Given the description of an element on the screen output the (x, y) to click on. 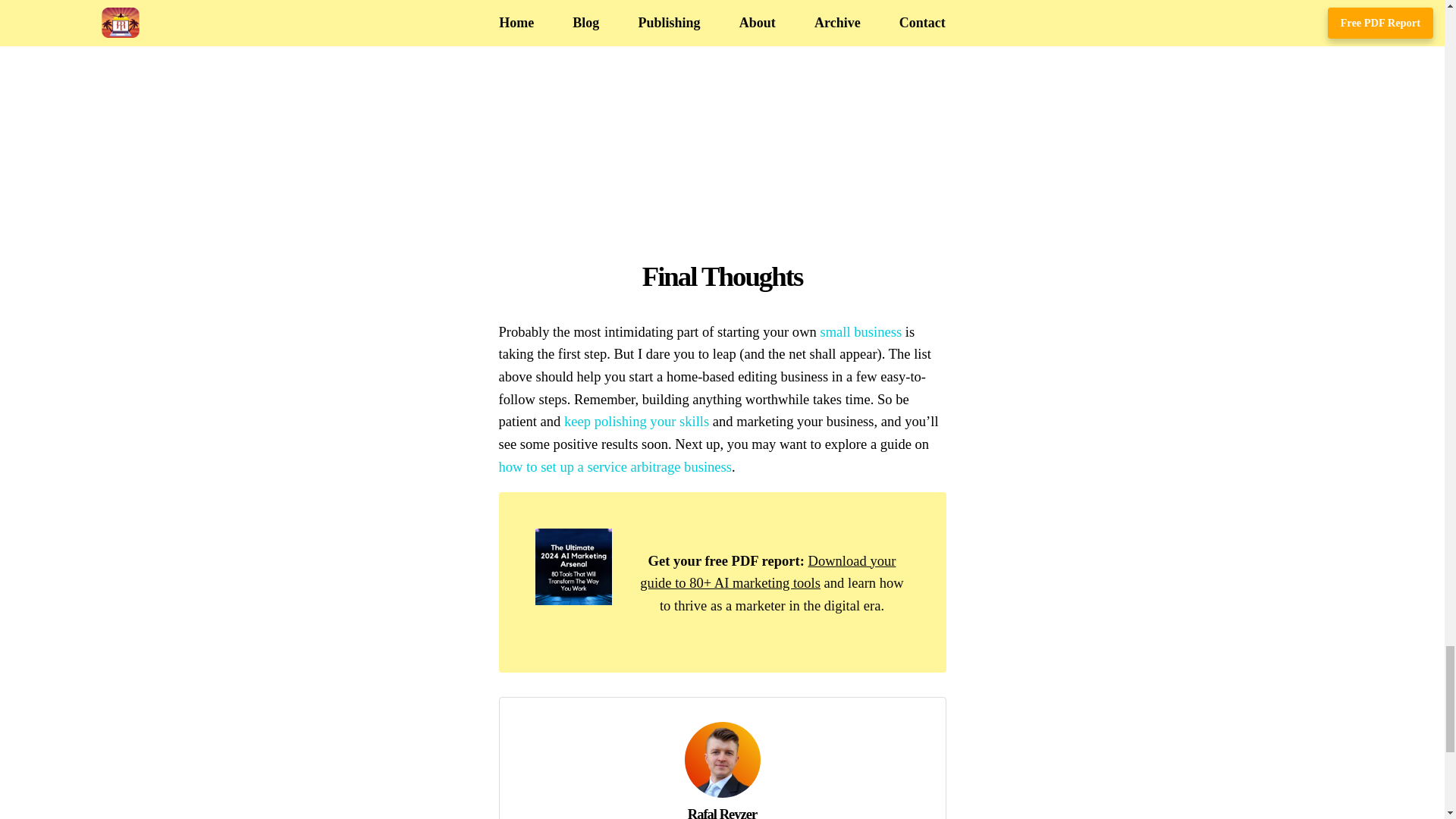
AI marketing tools (767, 571)
keep polishing your skills (636, 421)
AI marketing tools (573, 600)
how to set up a service arbitrage business (615, 466)
small business (860, 331)
